Given the description of an element on the screen output the (x, y) to click on. 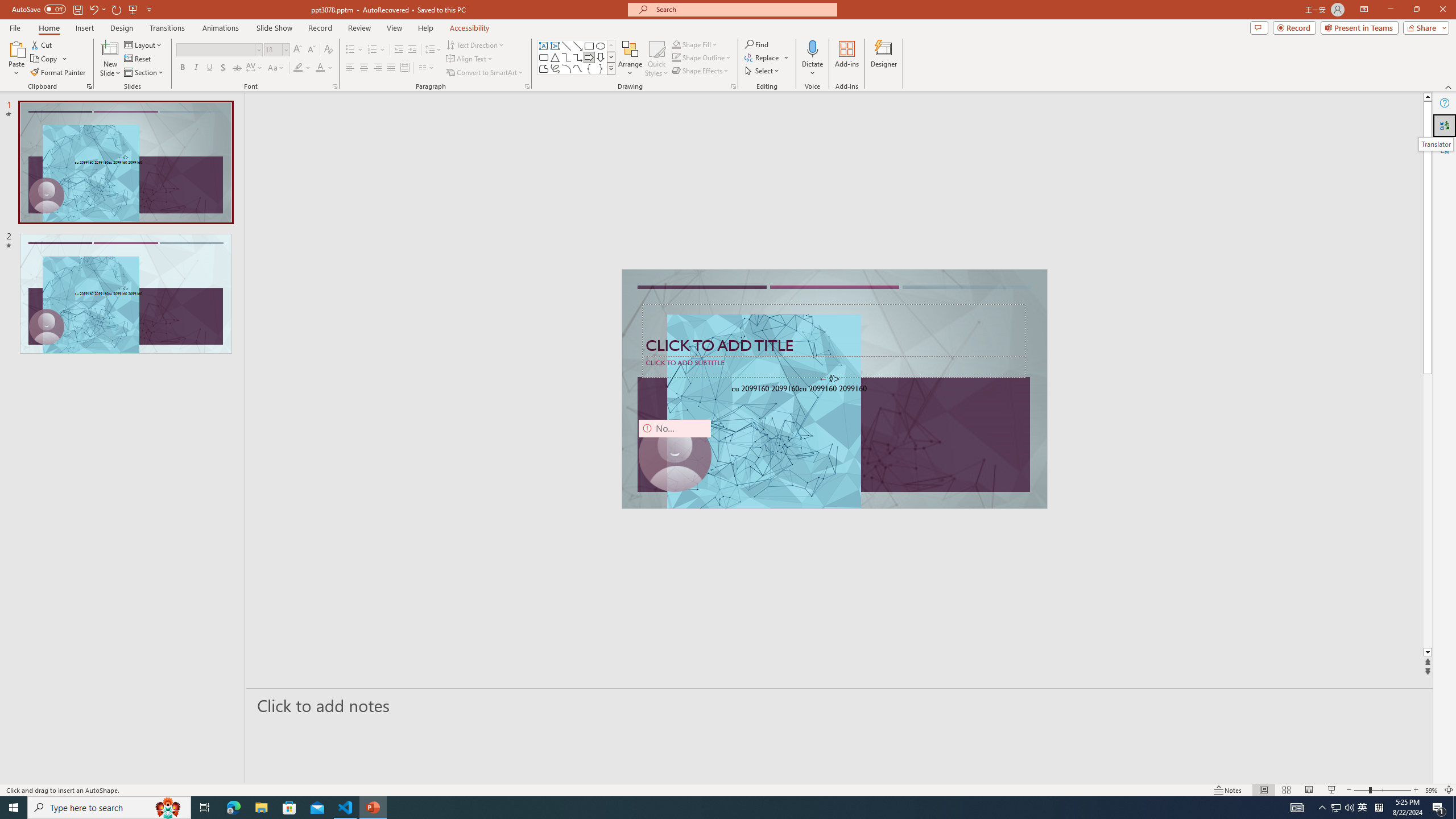
An abstract genetic concept (833, 388)
